Given the description of an element on the screen output the (x, y) to click on. 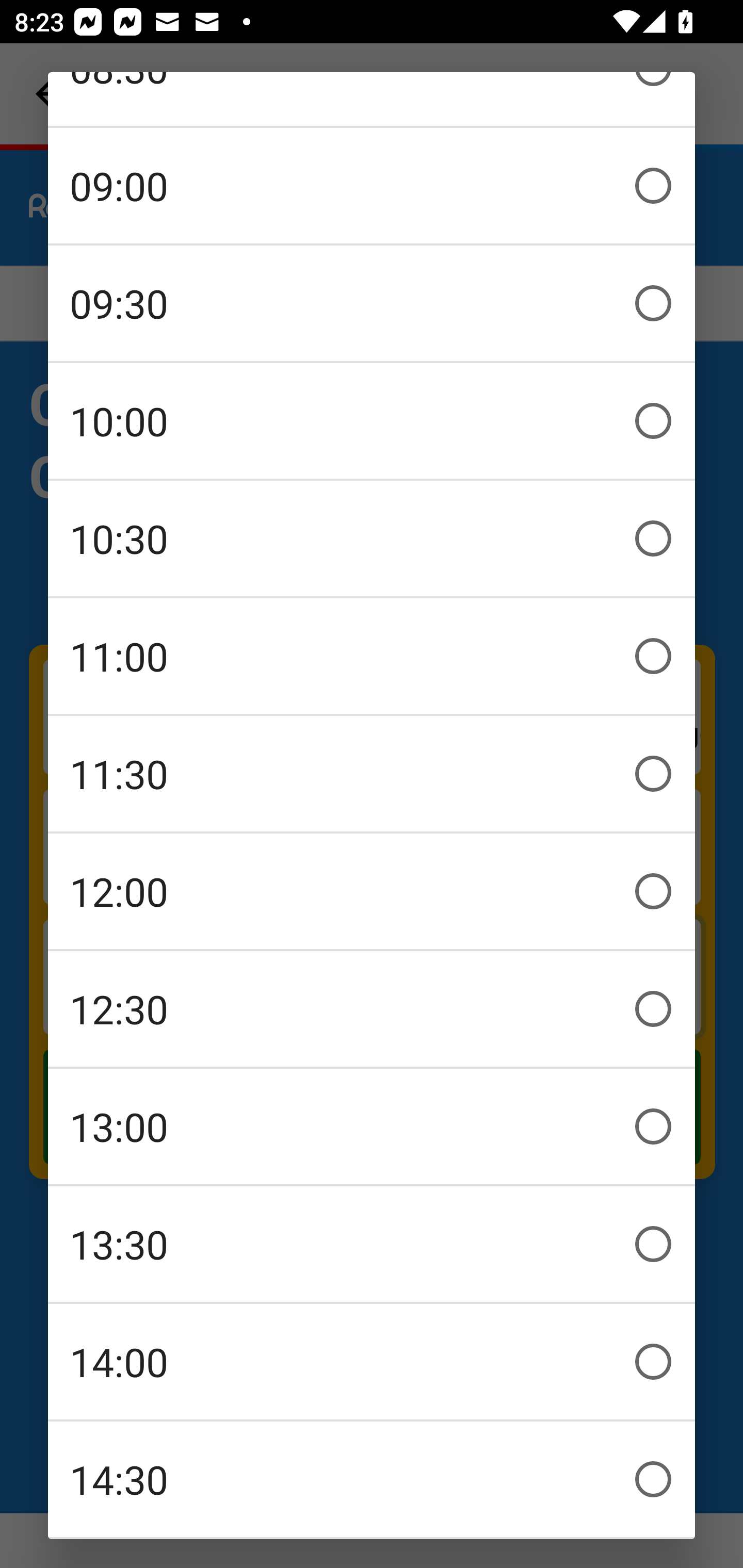
09:00 (371, 185)
09:30 (371, 303)
10:00 (371, 420)
10:30 (371, 538)
11:00 (371, 655)
11:30 (371, 773)
12:00 (371, 891)
12:30 (371, 1008)
13:00 (371, 1126)
13:30 (371, 1243)
14:00 (371, 1361)
14:30 (371, 1479)
